Given the description of an element on the screen output the (x, y) to click on. 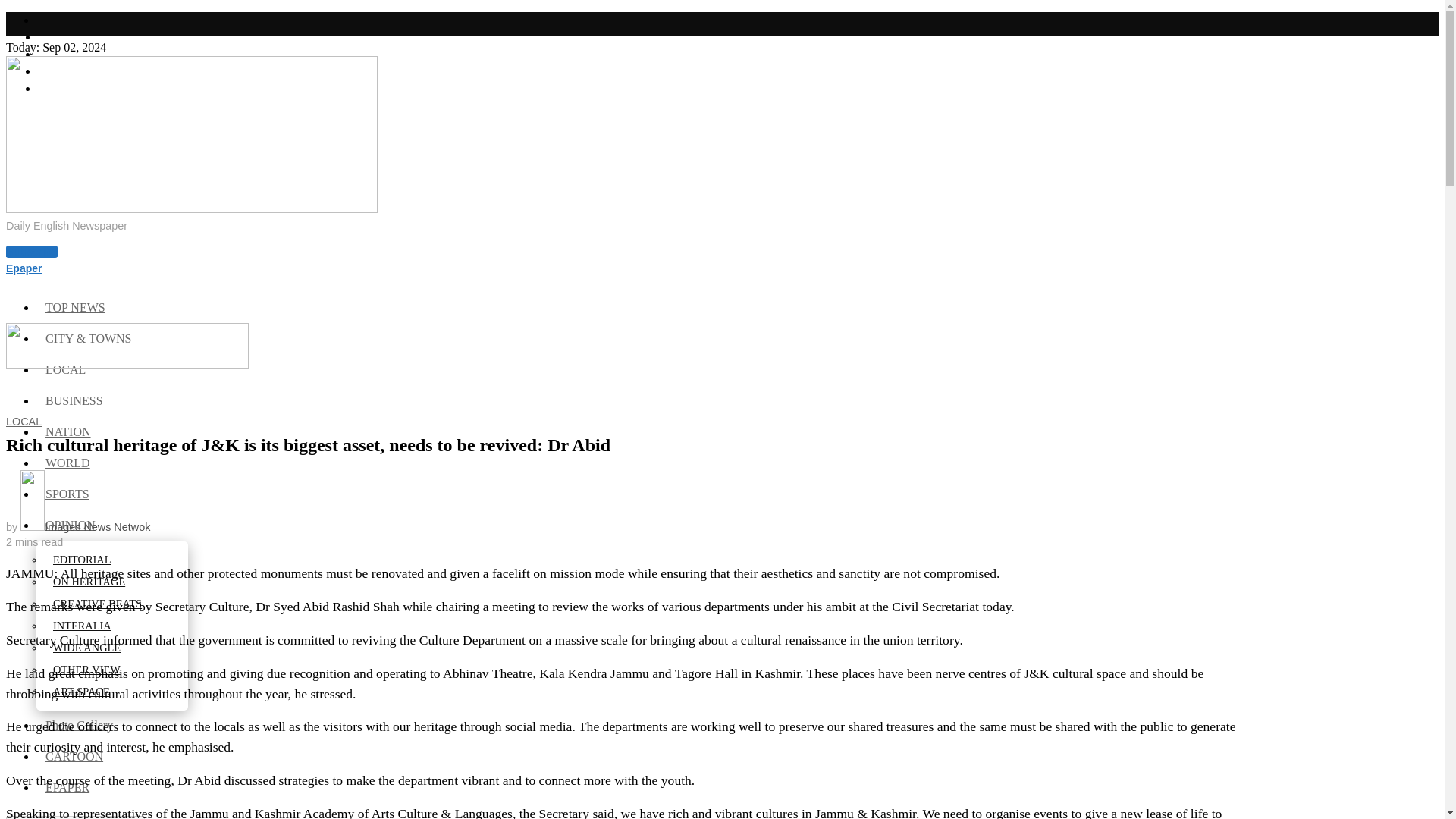
WIDE ANGLE (87, 647)
BUSINESS (75, 400)
SPORTS (68, 493)
OTHER VIEW (87, 669)
CARTOON (75, 756)
EDITORIAL (82, 559)
Images News Netwok (84, 526)
ON HERITAGE (89, 581)
INTERALIA (82, 625)
ART SPACE (81, 691)
